Given the description of an element on the screen output the (x, y) to click on. 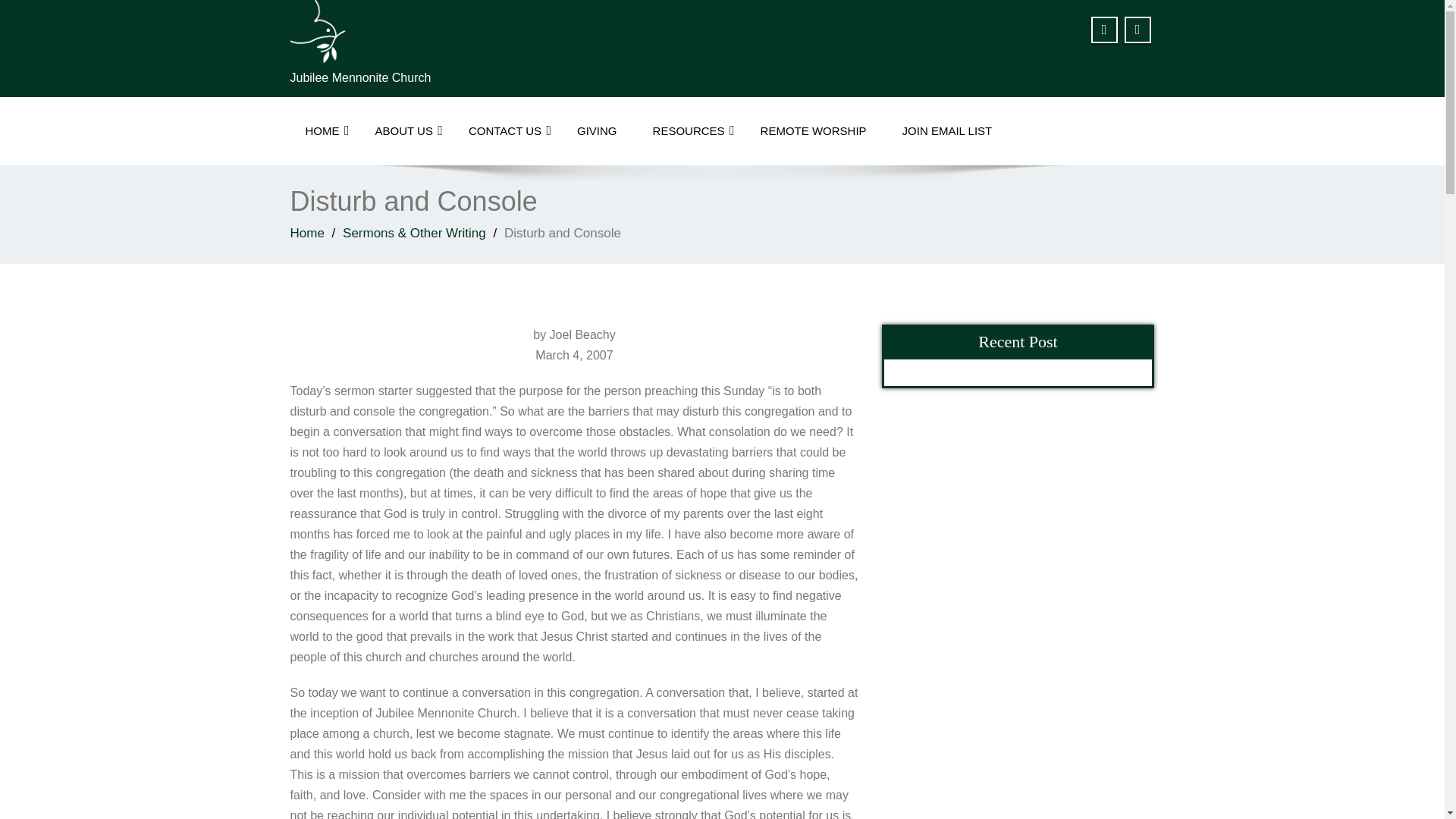
JOIN EMAIL LIST (946, 131)
RESOURCES (688, 131)
ABOUT US (402, 131)
GIVING (596, 131)
Jubilee Mennonite Church (499, 32)
CONTACT US (504, 131)
REMOTE WORSHIP (813, 131)
HOME (321, 131)
